Given the description of an element on the screen output the (x, y) to click on. 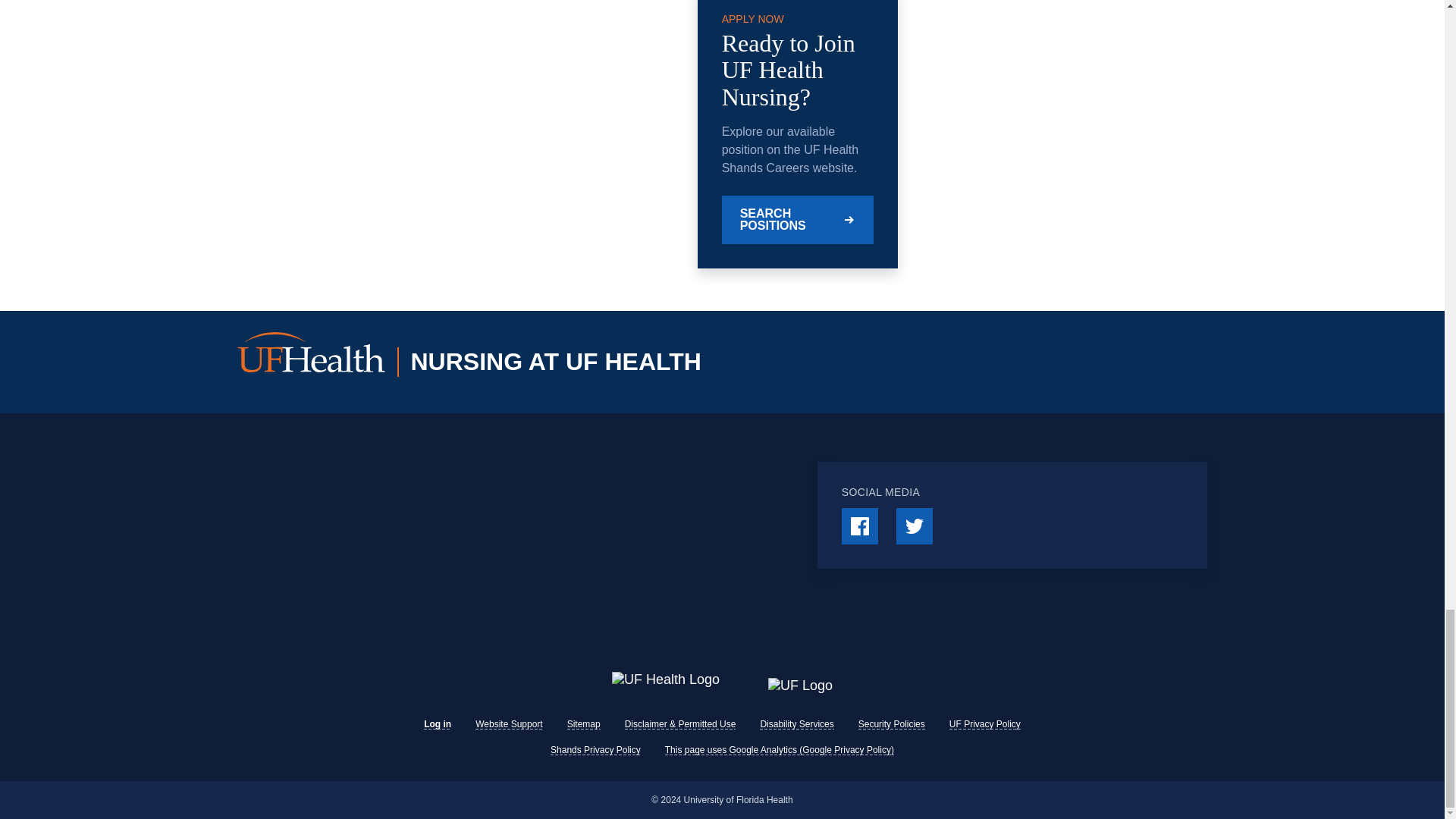
Sitemap (583, 724)
Log in (437, 724)
Website Support (509, 724)
Disability Services (796, 724)
Shands Privacy Policy (595, 749)
Security Policies (891, 724)
UF Privacy Policy (984, 724)
